Given the description of an element on the screen output the (x, y) to click on. 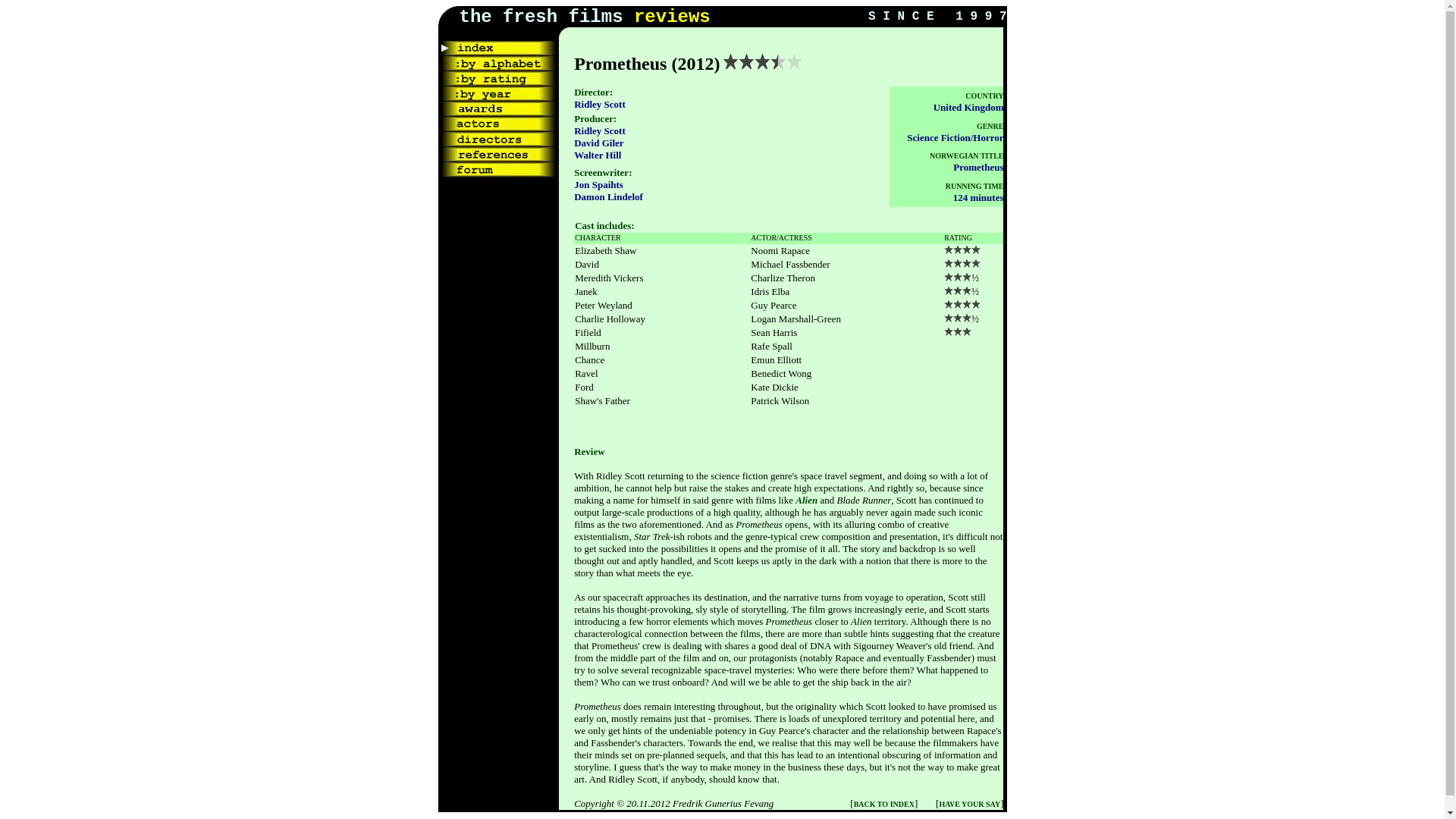
Alien (805, 500)
BACK TO INDEX (883, 802)
Walter Hill (597, 154)
HAVE YOUR SAY (969, 802)
Review (588, 450)
Director (591, 91)
